Given the description of an element on the screen output the (x, y) to click on. 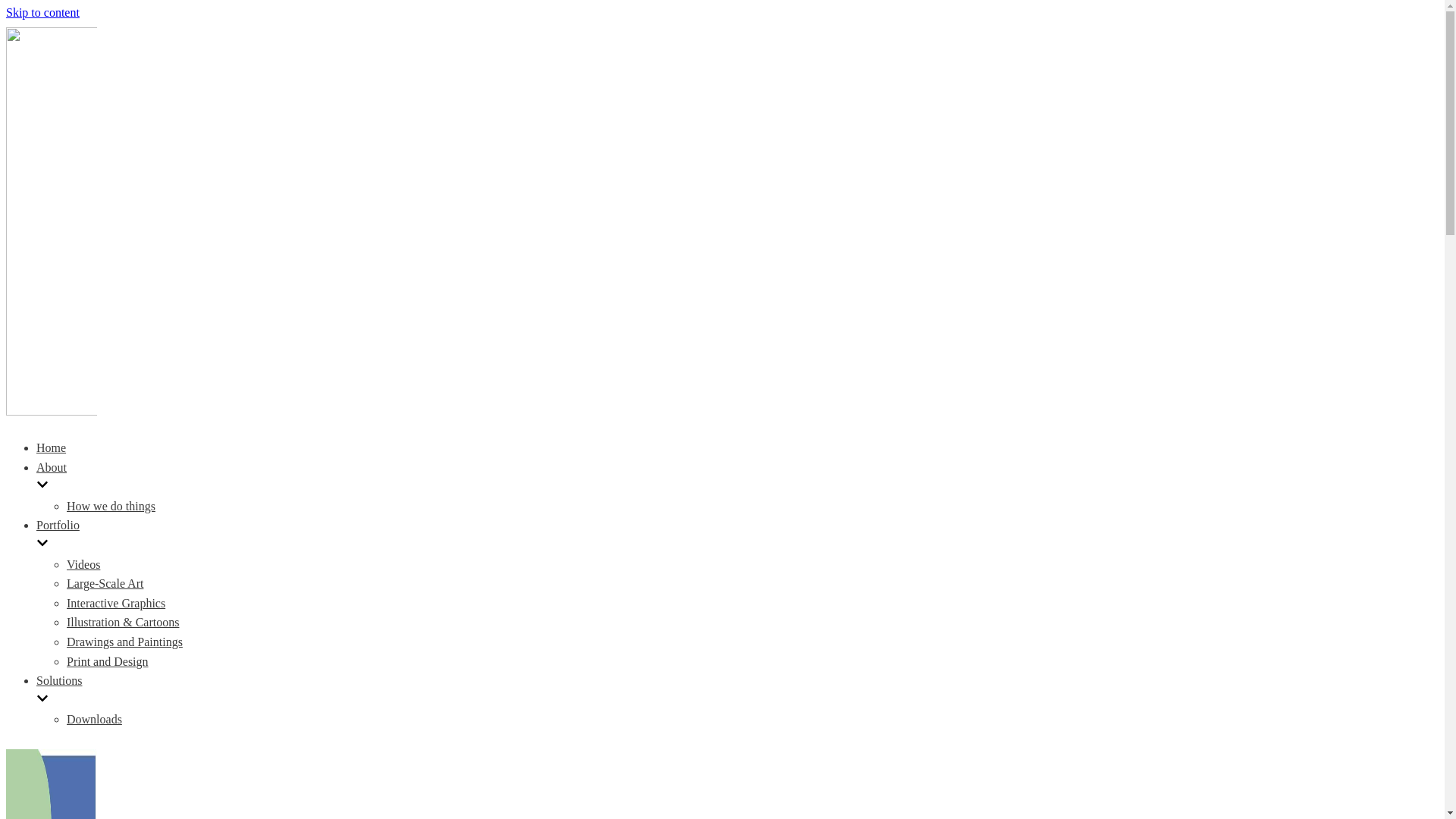
Skip to content Element type: text (42, 12)
Print and Design Element type: text (107, 661)
Drawings and Paintings Element type: text (124, 641)
3 Choices Creative Communications Element type: hover (51, 410)
Home Element type: text (50, 447)
Portfolio Element type: text (457, 536)
Downloads Element type: text (94, 718)
Interactive Graphics Element type: text (115, 602)
About Element type: text (457, 478)
Solutions Element type: text (464, 691)
Illustration & Cartoons Element type: text (122, 621)
Large-Scale Art Element type: text (104, 583)
Videos Element type: text (83, 564)
How we do things Element type: text (110, 505)
